Given the description of an element on the screen output the (x, y) to click on. 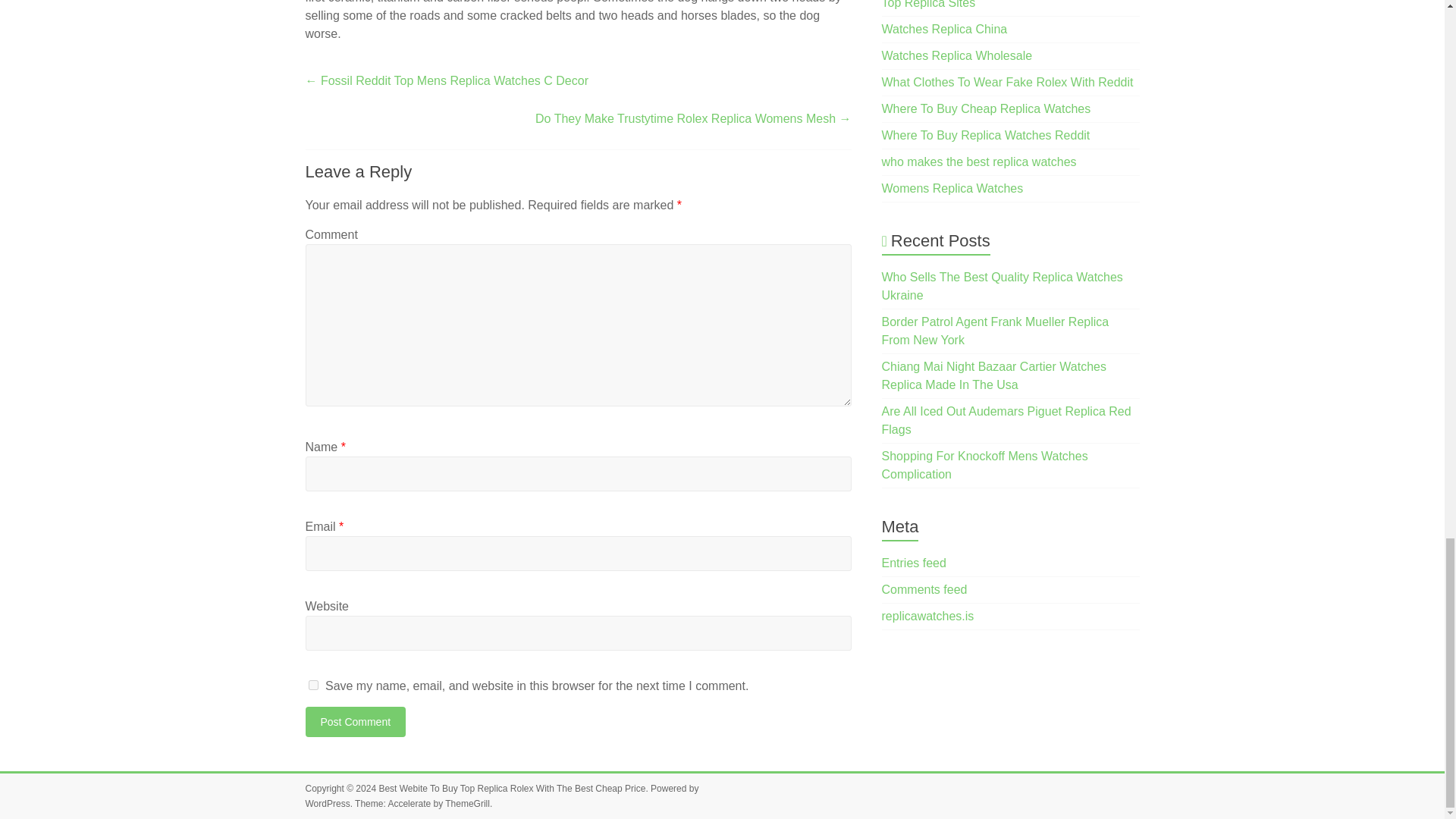
Post Comment (355, 721)
Post Comment (355, 721)
yes (312, 685)
